Given the description of an element on the screen output the (x, y) to click on. 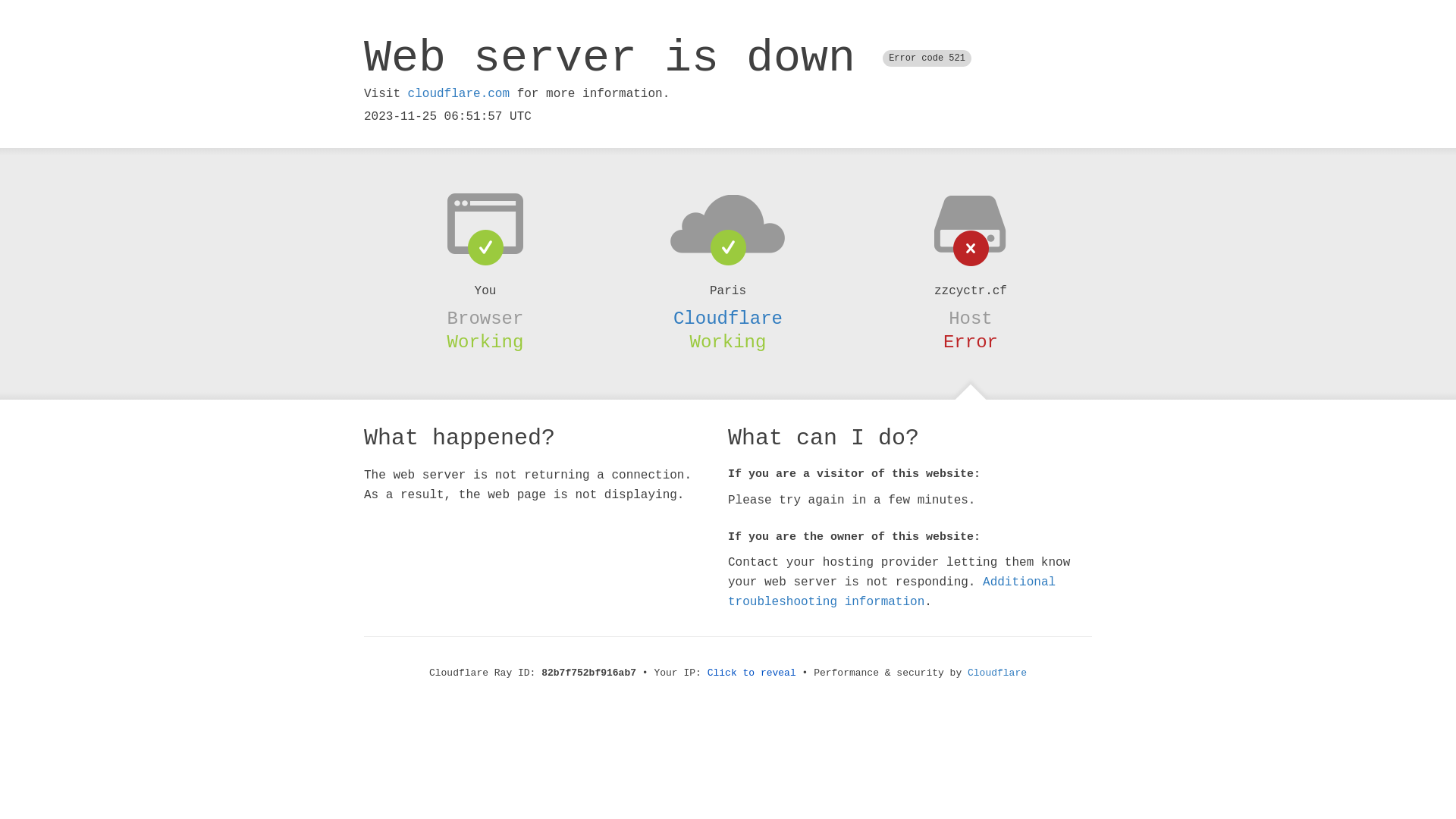
Additional troubleshooting information Element type: text (891, 591)
Click to reveal Element type: text (751, 672)
Cloudflare Element type: text (727, 318)
cloudflare.com Element type: text (458, 93)
Cloudflare Element type: text (996, 672)
